Given the description of an element on the screen output the (x, y) to click on. 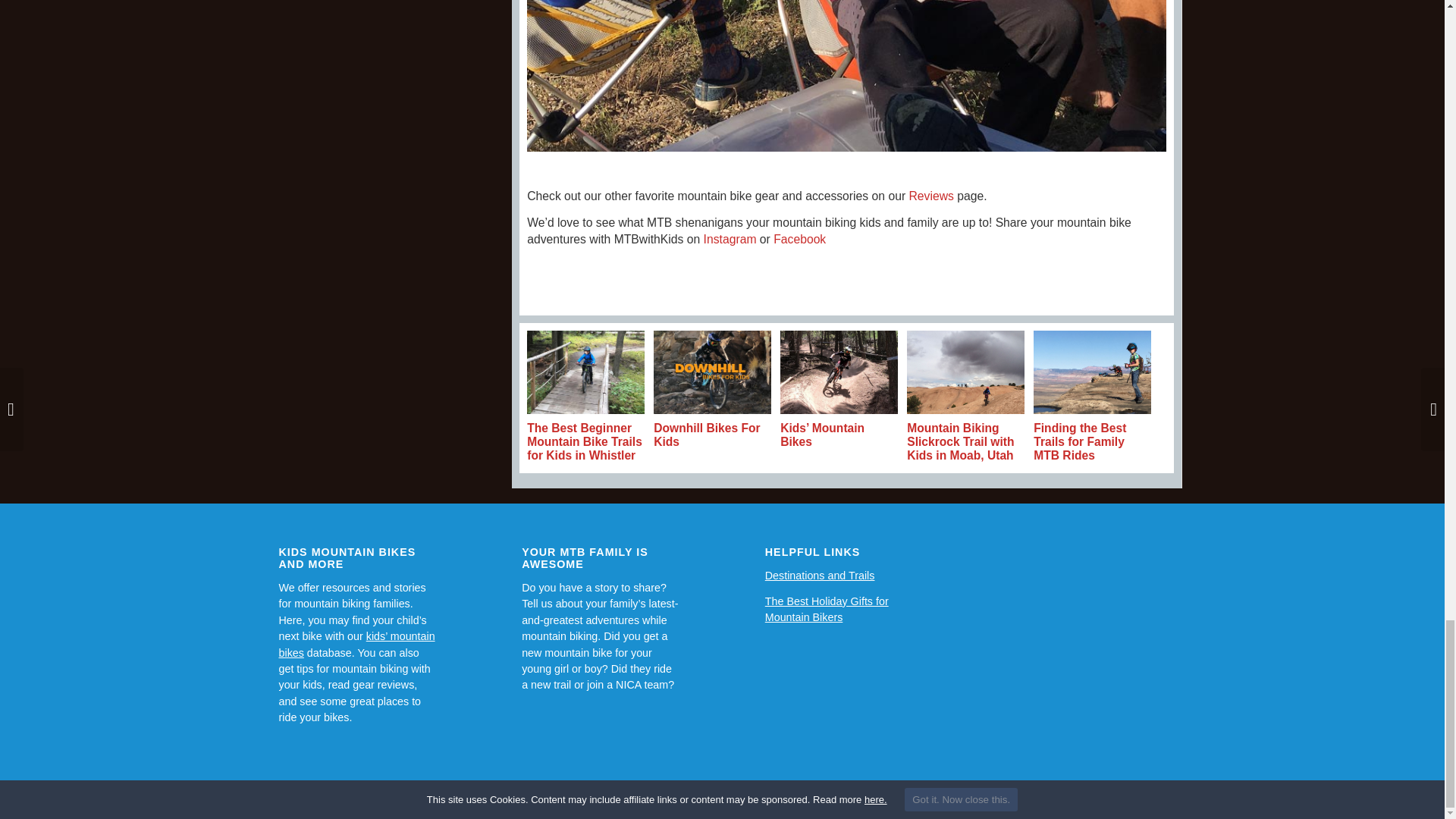
The Helinox Chair Two camping chairs are comfy (846, 76)
